Given the description of an element on the screen output the (x, y) to click on. 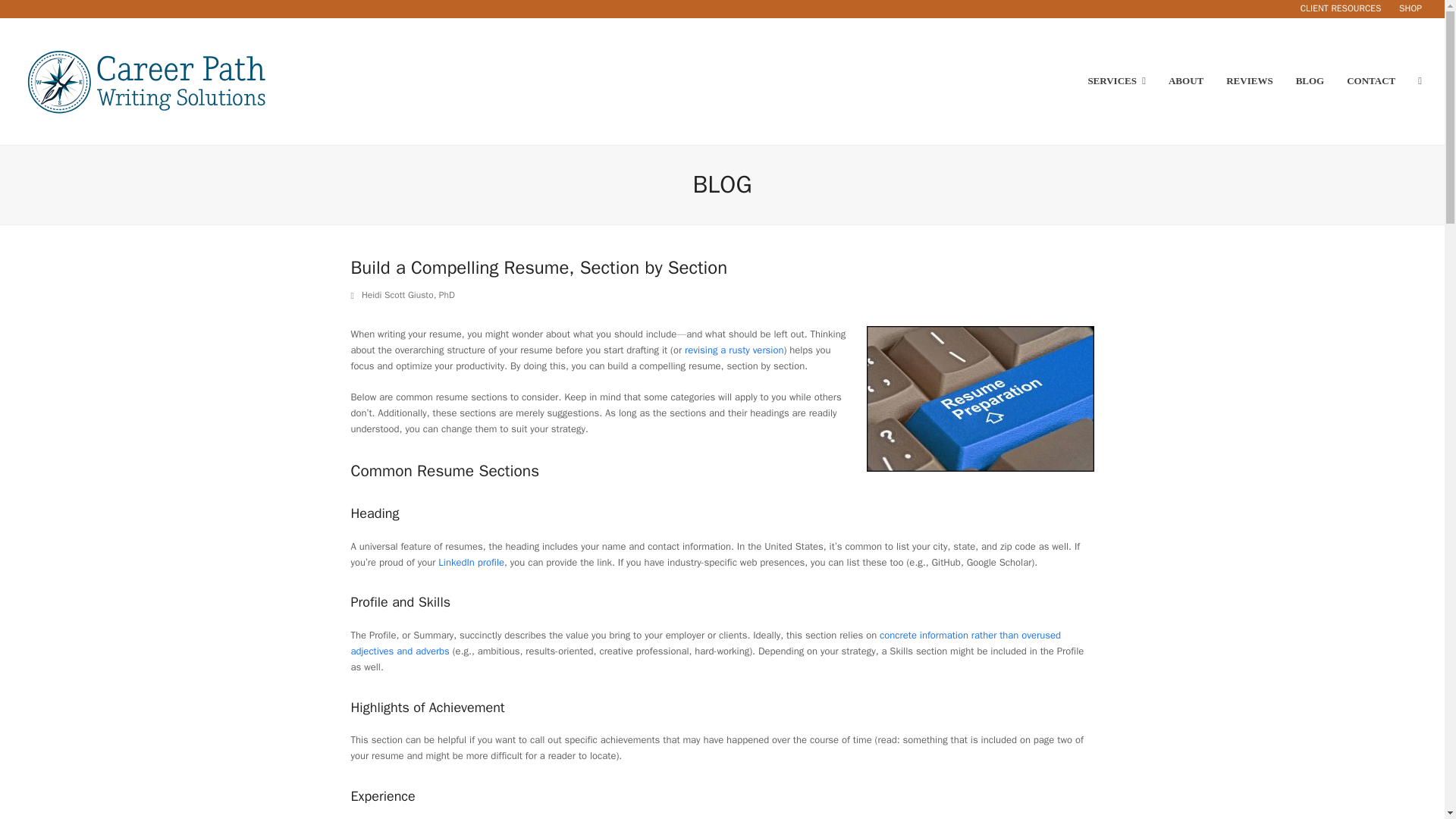
Heidi Scott Giusto, PhD (407, 295)
SHOP (1410, 8)
LinkedIn profile (470, 562)
revising a rusty version (733, 349)
Posts by Heidi Scott Giusto, PhD (407, 295)
CLIENT RESOURCES (1340, 8)
